Given the description of an element on the screen output the (x, y) to click on. 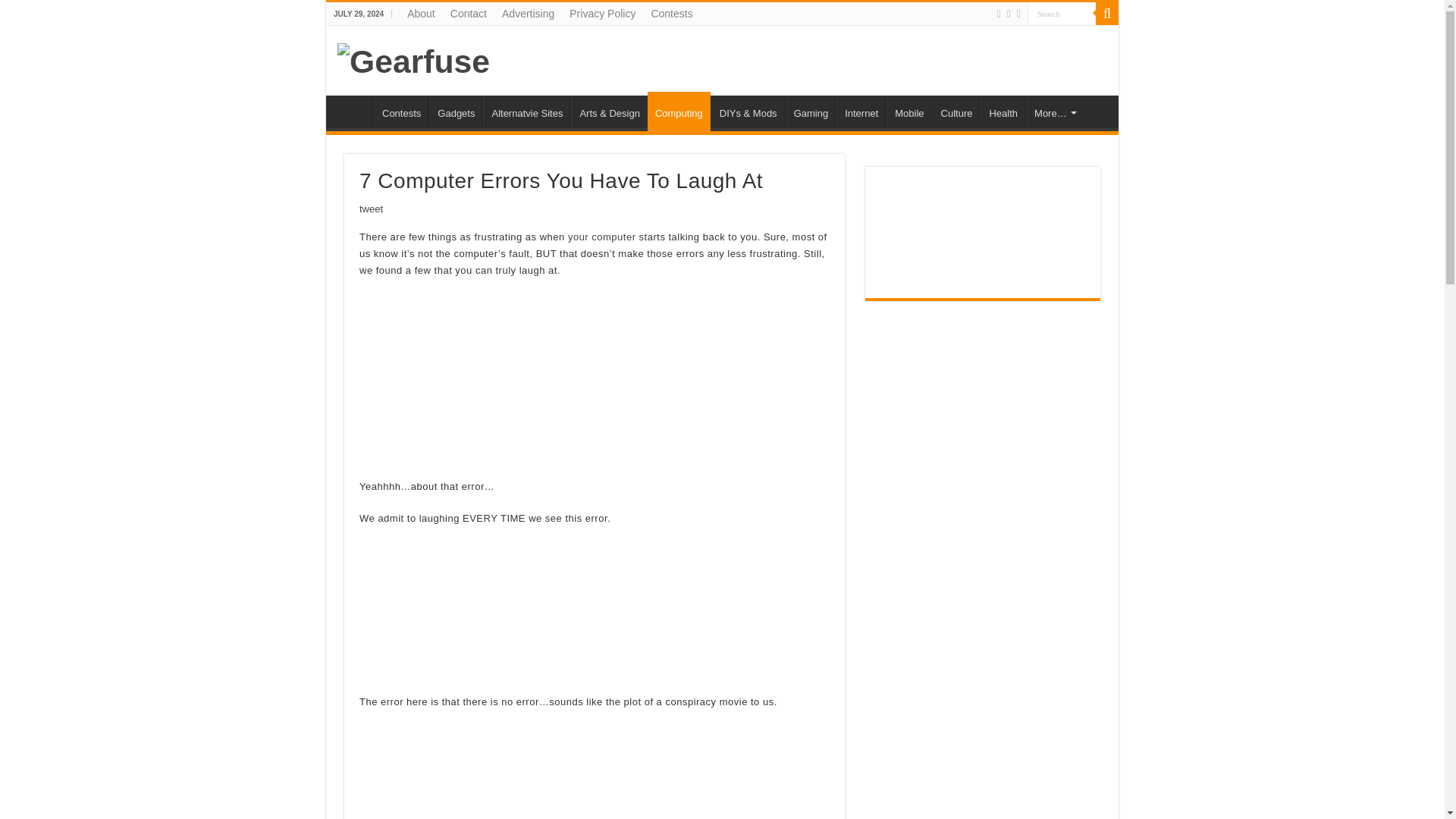
Home (352, 111)
Gadgets (455, 111)
Gearfuse (413, 58)
Culture (956, 111)
Search (1107, 13)
Contests (671, 13)
Privacy Policy (602, 13)
Search (1061, 13)
Health (1002, 111)
About (420, 13)
Computing (678, 111)
Contests (401, 111)
Gaming (810, 111)
Contact (468, 13)
Advertising (528, 13)
